Given the description of an element on the screen output the (x, y) to click on. 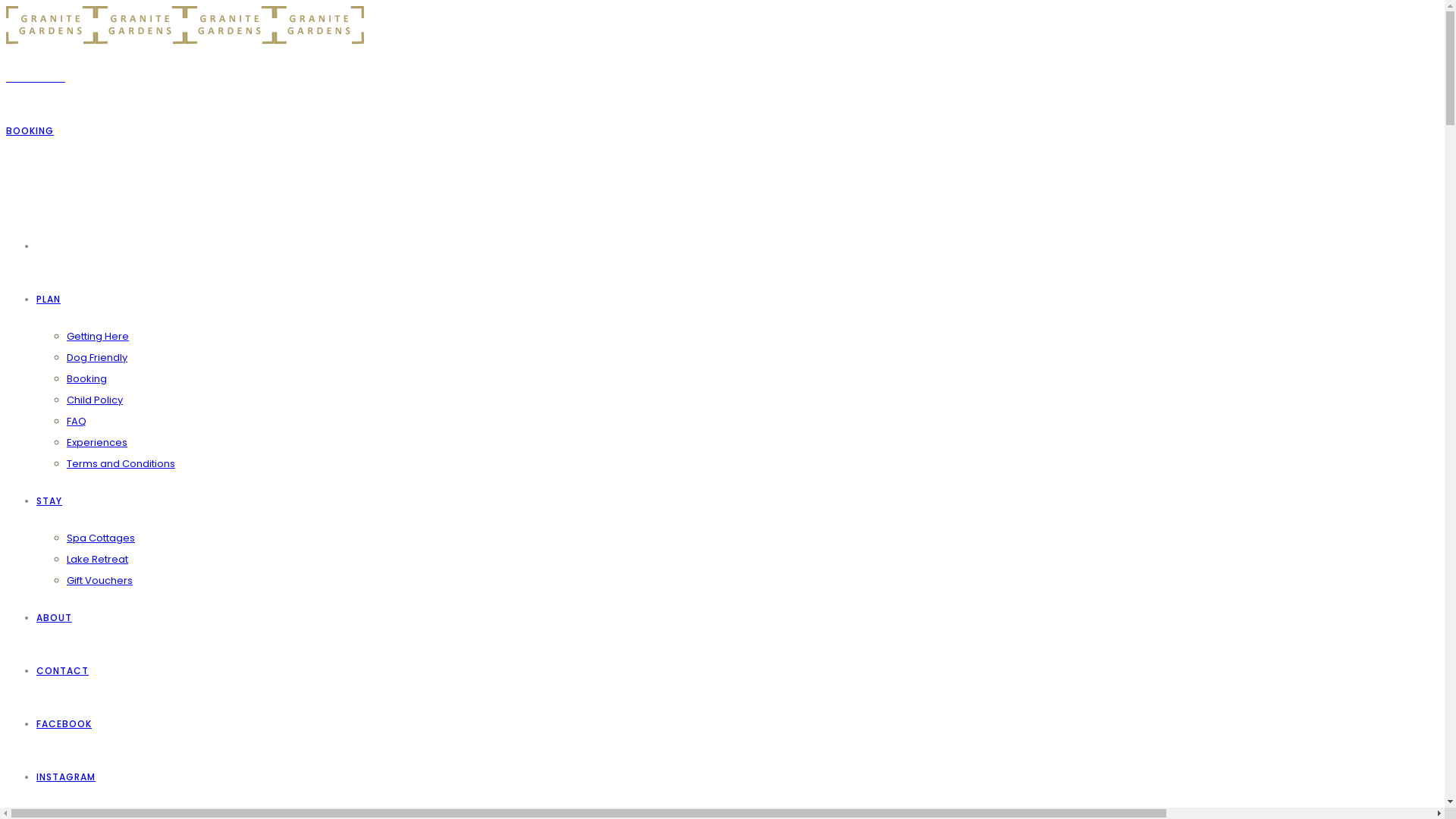
Booking Element type: text (86, 378)
INSTAGRAM Element type: text (65, 776)
Spa Cottages Element type: text (100, 537)
Experiences Element type: text (96, 442)
Gift Vouchers Element type: text (99, 580)
STAY Element type: text (49, 500)
Terms and Conditions Element type: text (120, 463)
Child Policy Element type: text (94, 399)
Lake Retreat Element type: text (97, 559)
Dog Friendly Element type: text (96, 357)
FAQ Element type: text (76, 421)
ABOUT Element type: text (54, 617)
FACEBOOK Element type: text (63, 723)
HOT DEALS! Element type: text (35, 77)
CONTACT Element type: text (62, 670)
BOOKING Element type: text (29, 130)
PLAN Element type: text (48, 298)
Getting Here Element type: text (97, 336)
